Given the description of an element on the screen output the (x, y) to click on. 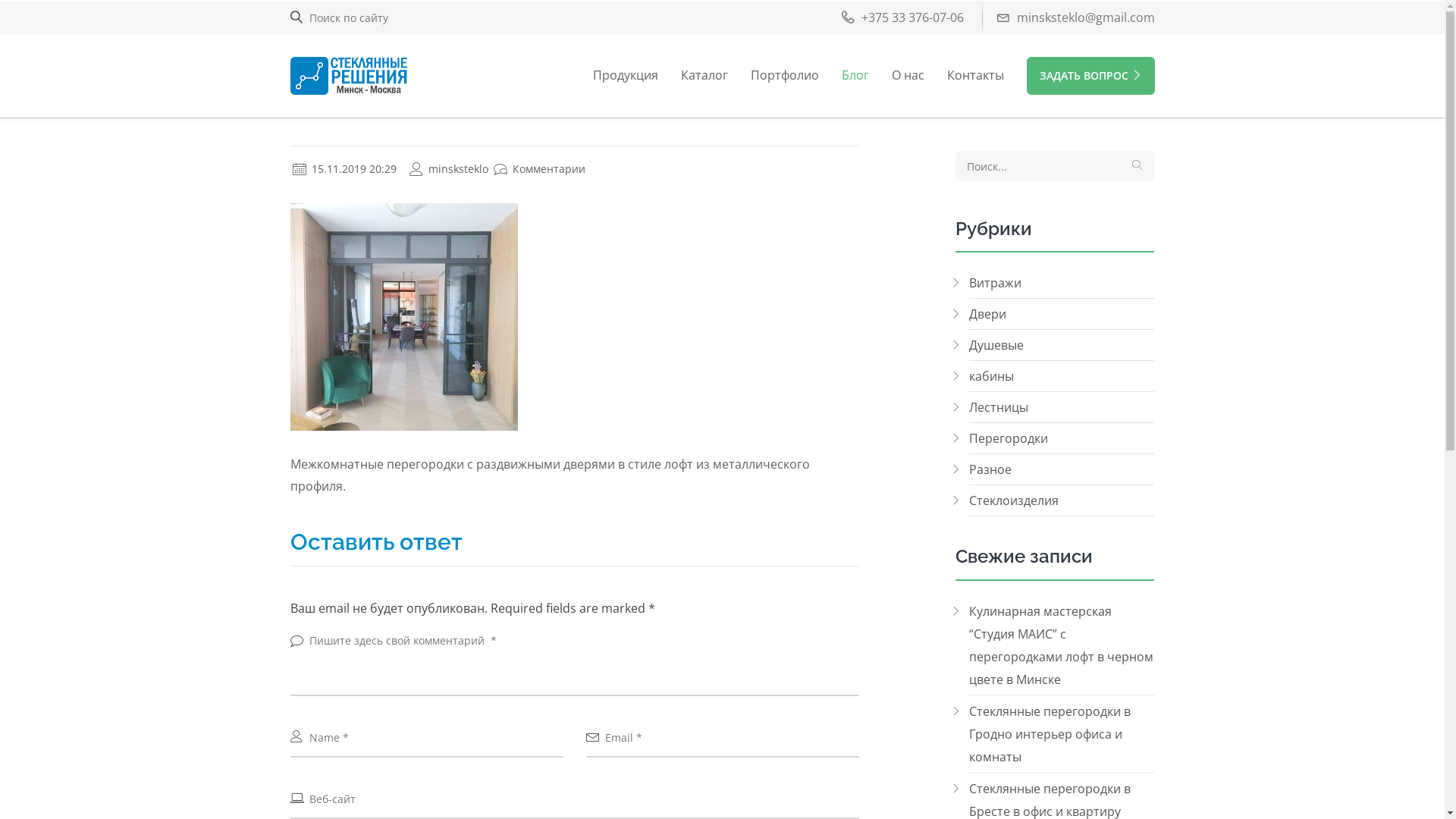
+375 33 376-07-06 Element type: text (902, 17)
minsksteklo Element type: text (448, 168)
15.11.2019 20:29 Element type: text (344, 168)
minsksteklo@gmail.com Element type: text (1075, 17)
